Given the description of an element on the screen output the (x, y) to click on. 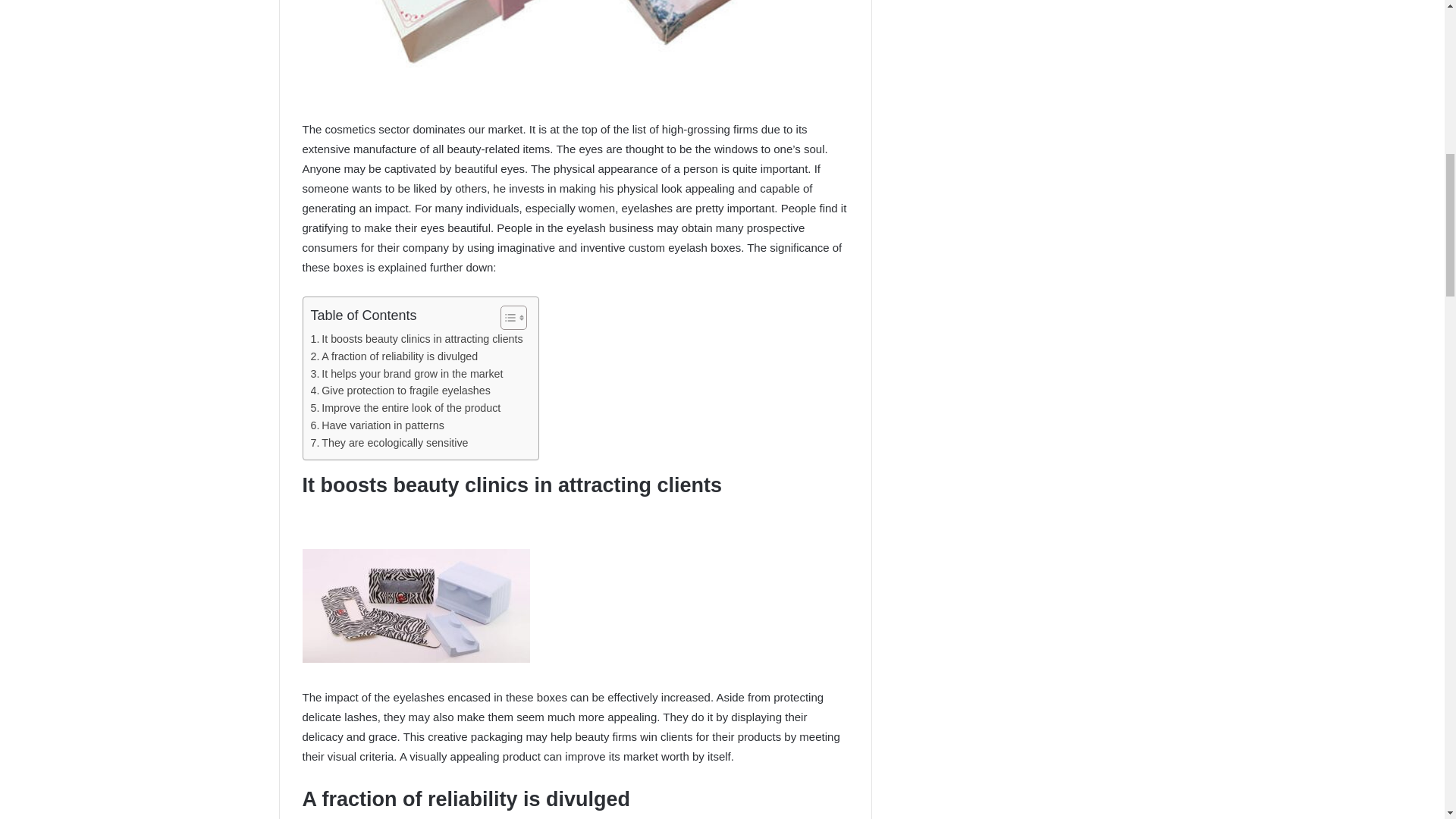
Have variation in patterns (377, 425)
It boosts beauty clinics in attracting clients (416, 339)
It helps your brand grow in the market (407, 374)
A fraction of reliability is divulged (395, 356)
Give protection to fragile eyelashes (400, 390)
Improve the entire look of the product (405, 407)
They are ecologically sensitive (389, 443)
